Given the description of an element on the screen output the (x, y) to click on. 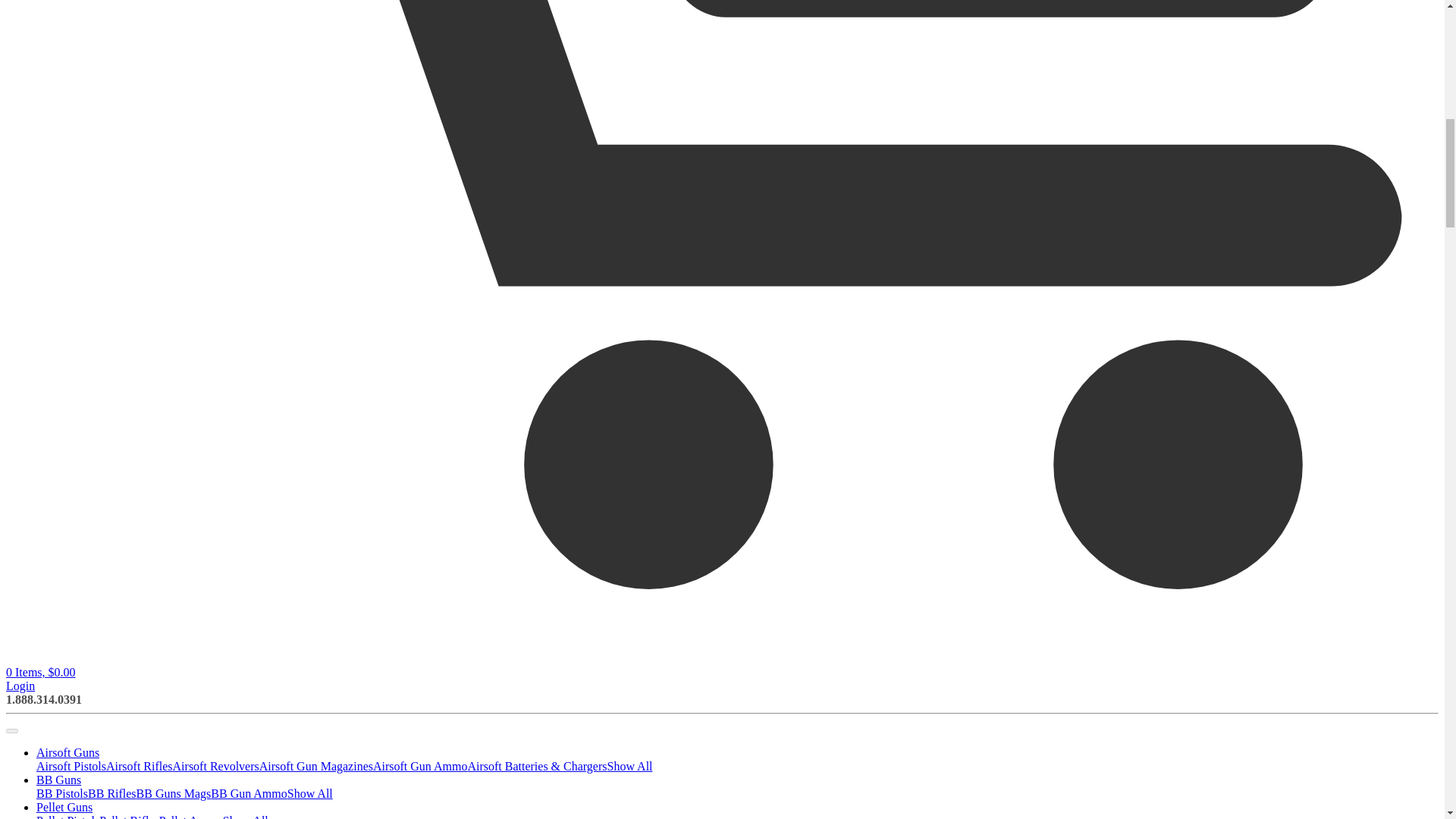
BB Pistols (61, 793)
BB Gun Ammo (248, 793)
Pellet Rifles (128, 816)
BB Rifles (111, 793)
Airsoft Guns (67, 752)
Pellet Guns (64, 807)
Pellet Pistols (67, 816)
BB Guns Mags (173, 793)
Show All (309, 793)
Airsoft Rifles (139, 766)
Login (19, 685)
Pellet Ammo (190, 816)
Show All (244, 816)
Airsoft Revolvers (216, 766)
Airsoft Pistols (71, 766)
